Given the description of an element on the screen output the (x, y) to click on. 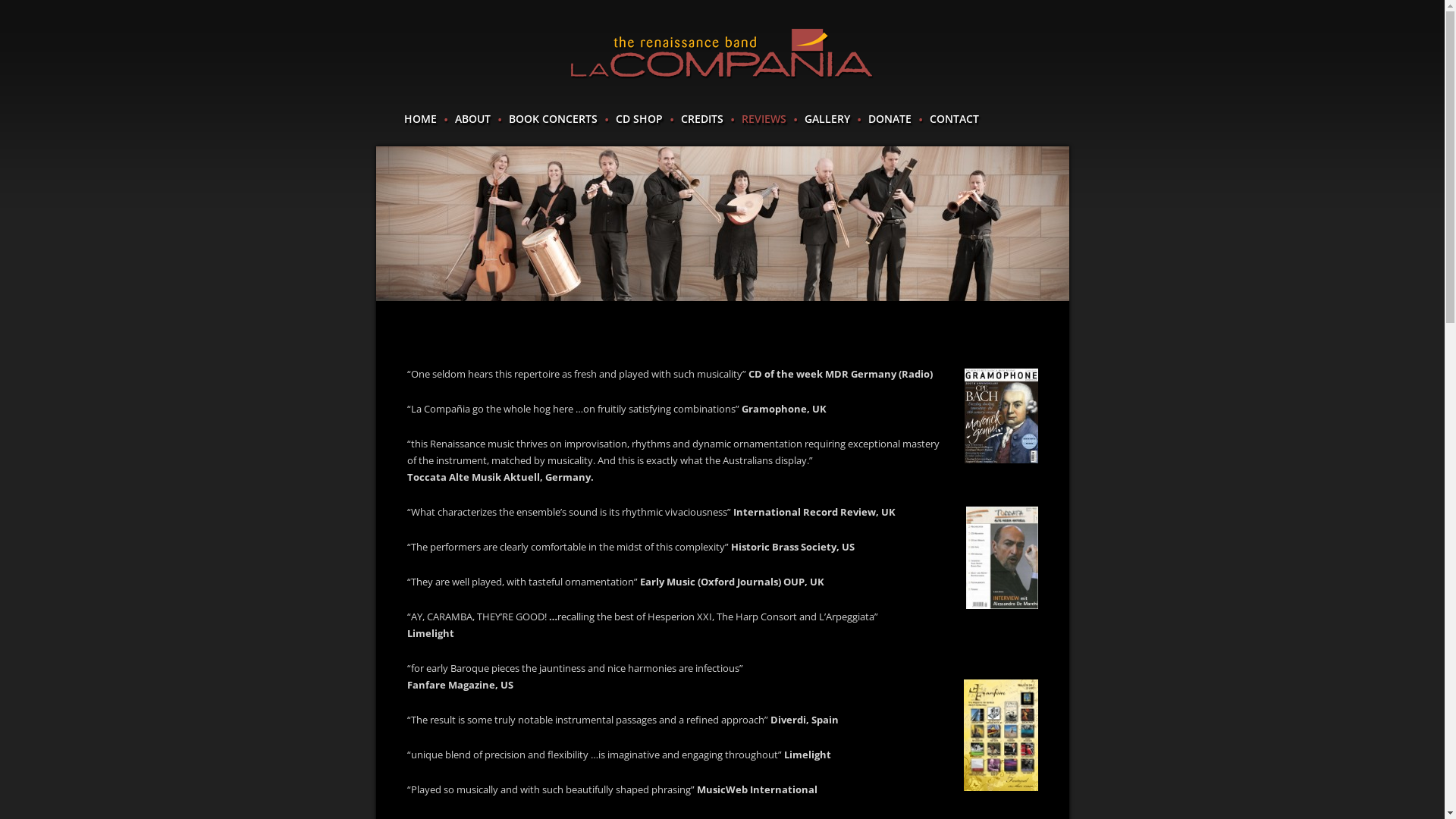
ABOUT Element type: text (472, 118)
CREDITS Element type: text (701, 118)
BOOK CONCERTS Element type: text (552, 118)
The Renaissance Band Element type: hover (721, 53)
CONTACT Element type: text (954, 118)
GALLERY Element type: text (826, 118)
REVIEWS Element type: text (763, 118)
CD SHOP Element type: text (638, 118)
DONATE Element type: text (888, 118)
HOME Element type: text (419, 118)
